Given the description of an element on the screen output the (x, y) to click on. 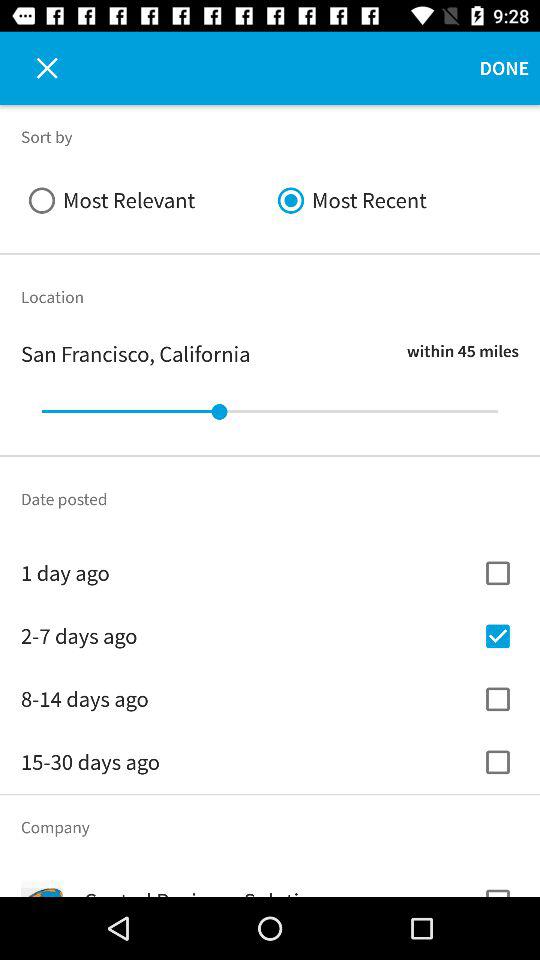
tap item below the sort by (145, 200)
